Given the description of an element on the screen output the (x, y) to click on. 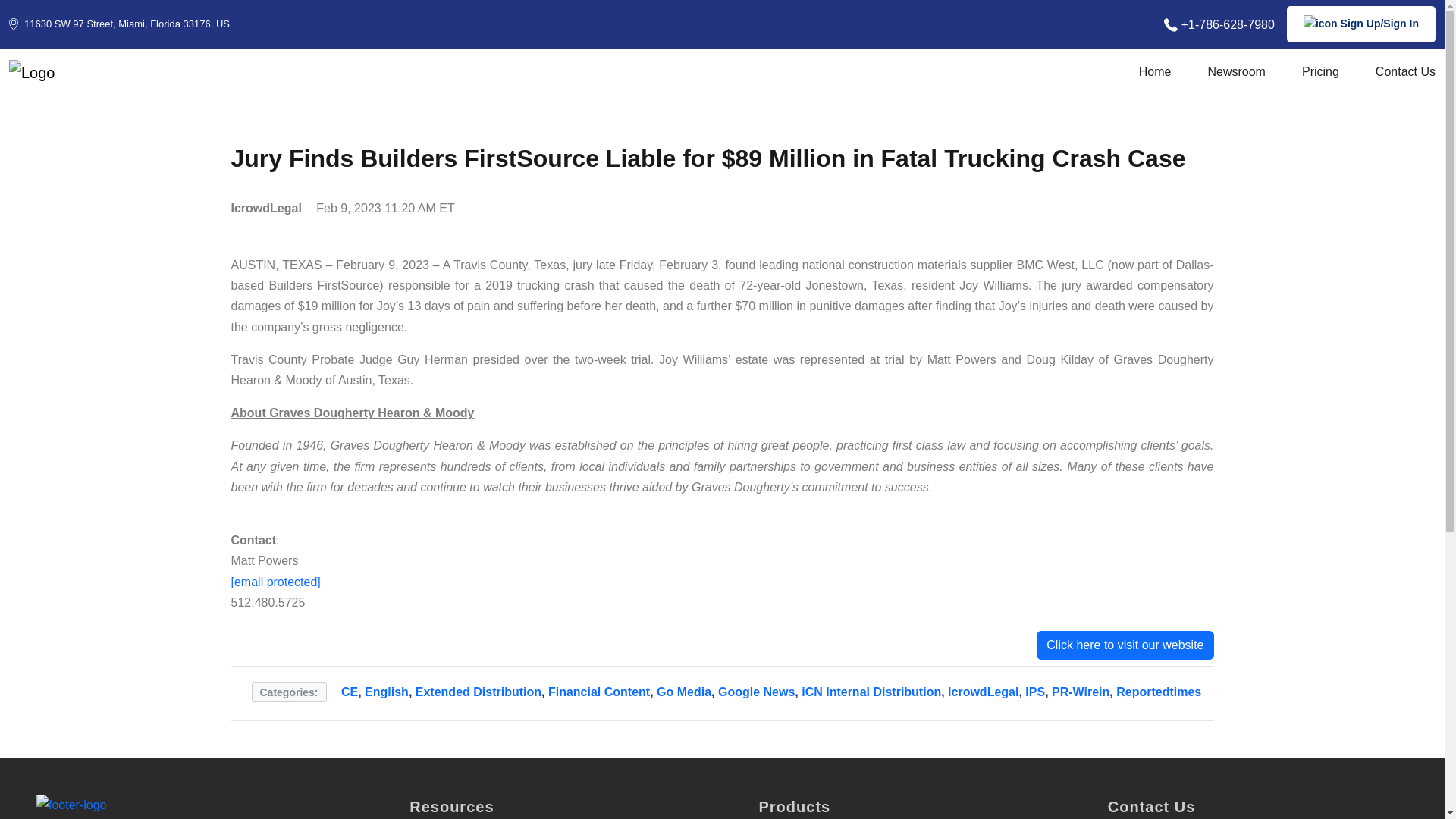
IPS (1035, 700)
English (387, 700)
Google News (755, 700)
Reportedtimes (1158, 700)
Home (1155, 75)
Extended Distribution (477, 700)
Contact Us (1405, 75)
PR-Wirein (1080, 700)
Financial Content (598, 700)
iCN Internal Distribution (871, 700)
